Given the description of an element on the screen output the (x, y) to click on. 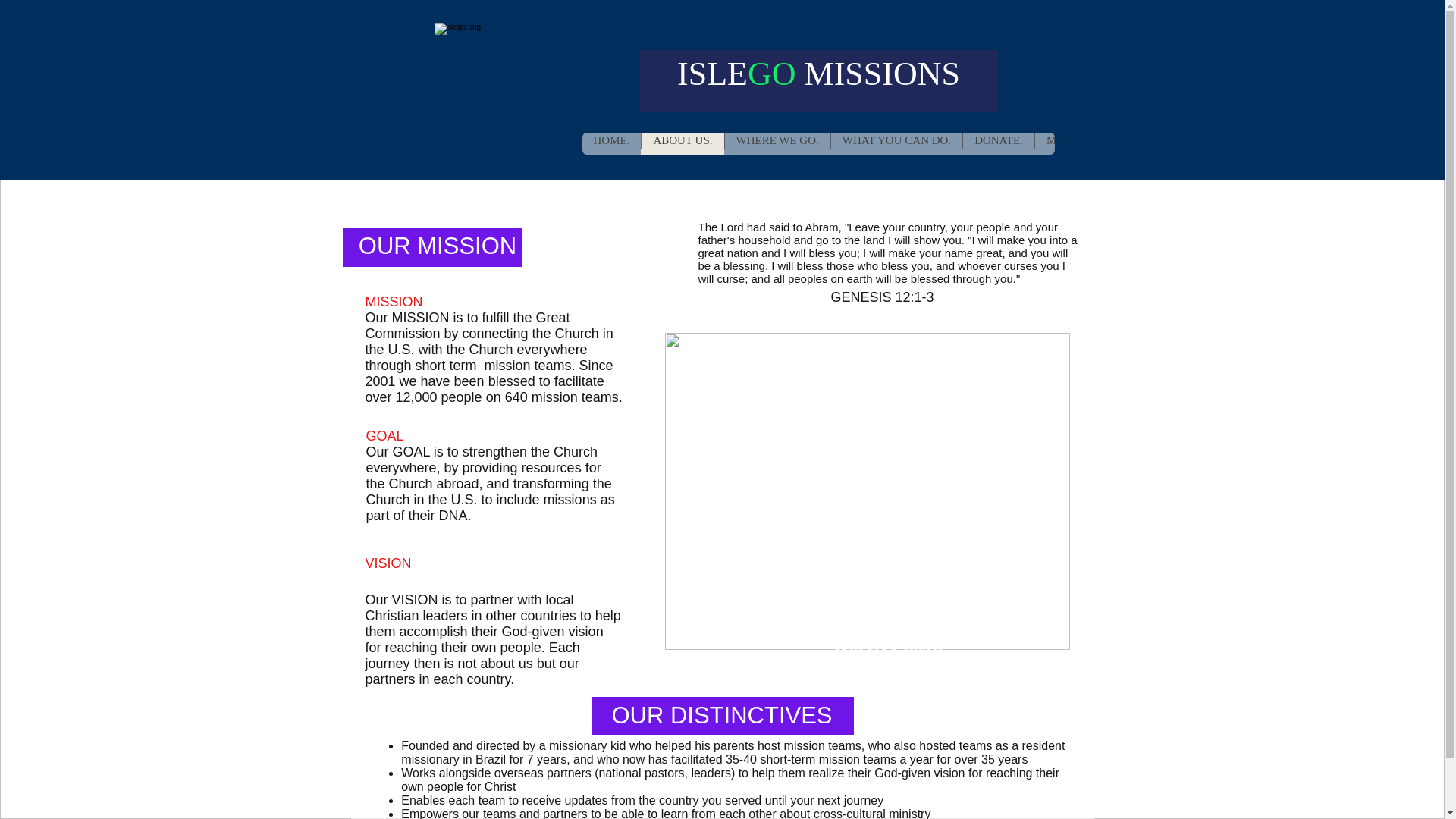
islego.png (504, 93)
WHERE WE GO. (776, 143)
HOME. (612, 143)
ABOUT US. (681, 143)
DONATE. (997, 143)
WHAT YOU CAN DO. (895, 143)
